Given the description of an element on the screen output the (x, y) to click on. 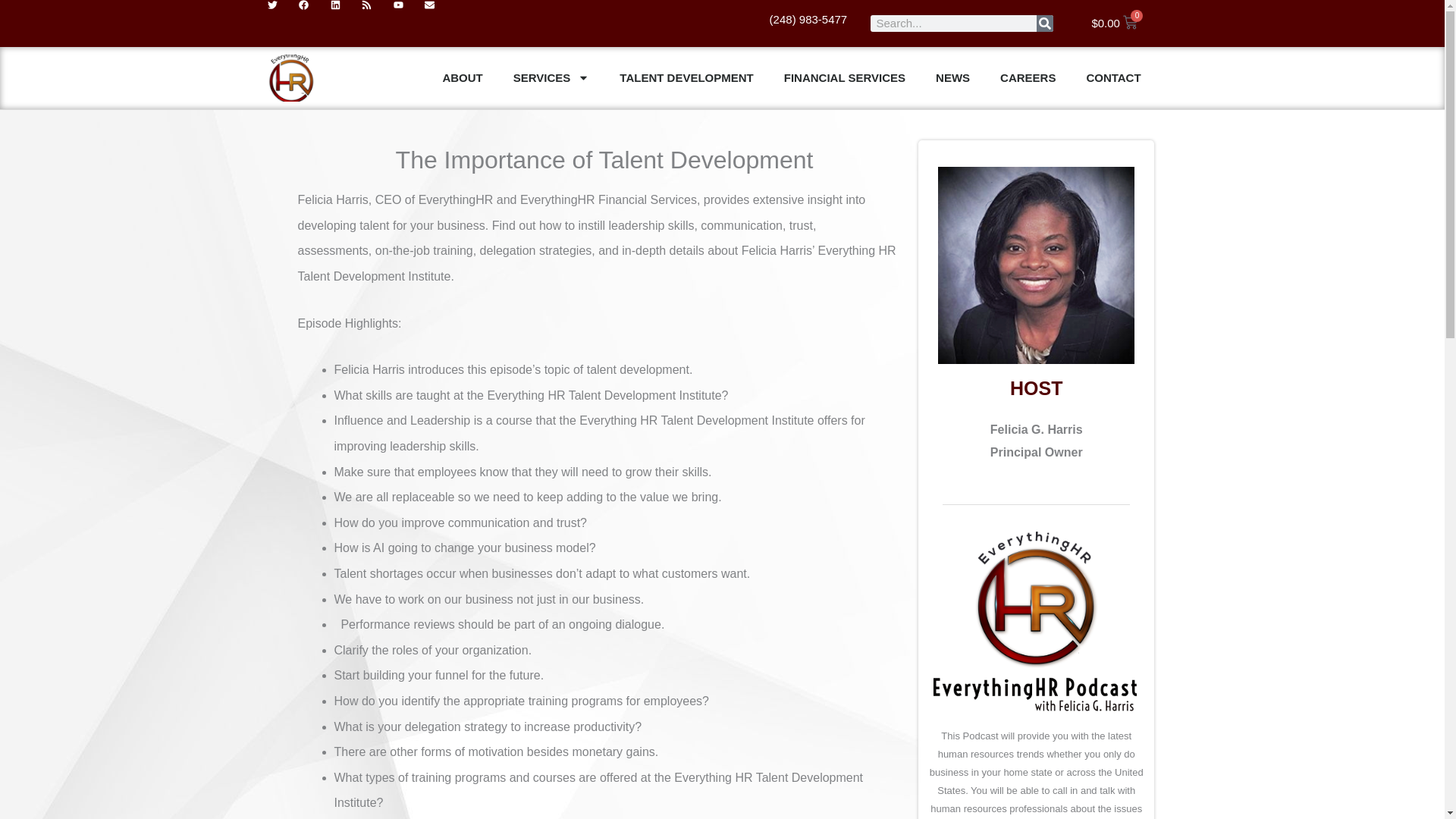
CONTACT (1113, 78)
SERVICES (551, 78)
Linkedin (346, 15)
NEWS (952, 78)
ABOUT (461, 78)
Rss (377, 15)
Search (1044, 23)
Facebook (314, 15)
Twitter (282, 15)
Youtube (409, 15)
Envelope (441, 15)
FINANCIAL SERVICES (844, 78)
CAREERS (1027, 78)
TALENT DEVELOPMENT (686, 78)
